Given the description of an element on the screen output the (x, y) to click on. 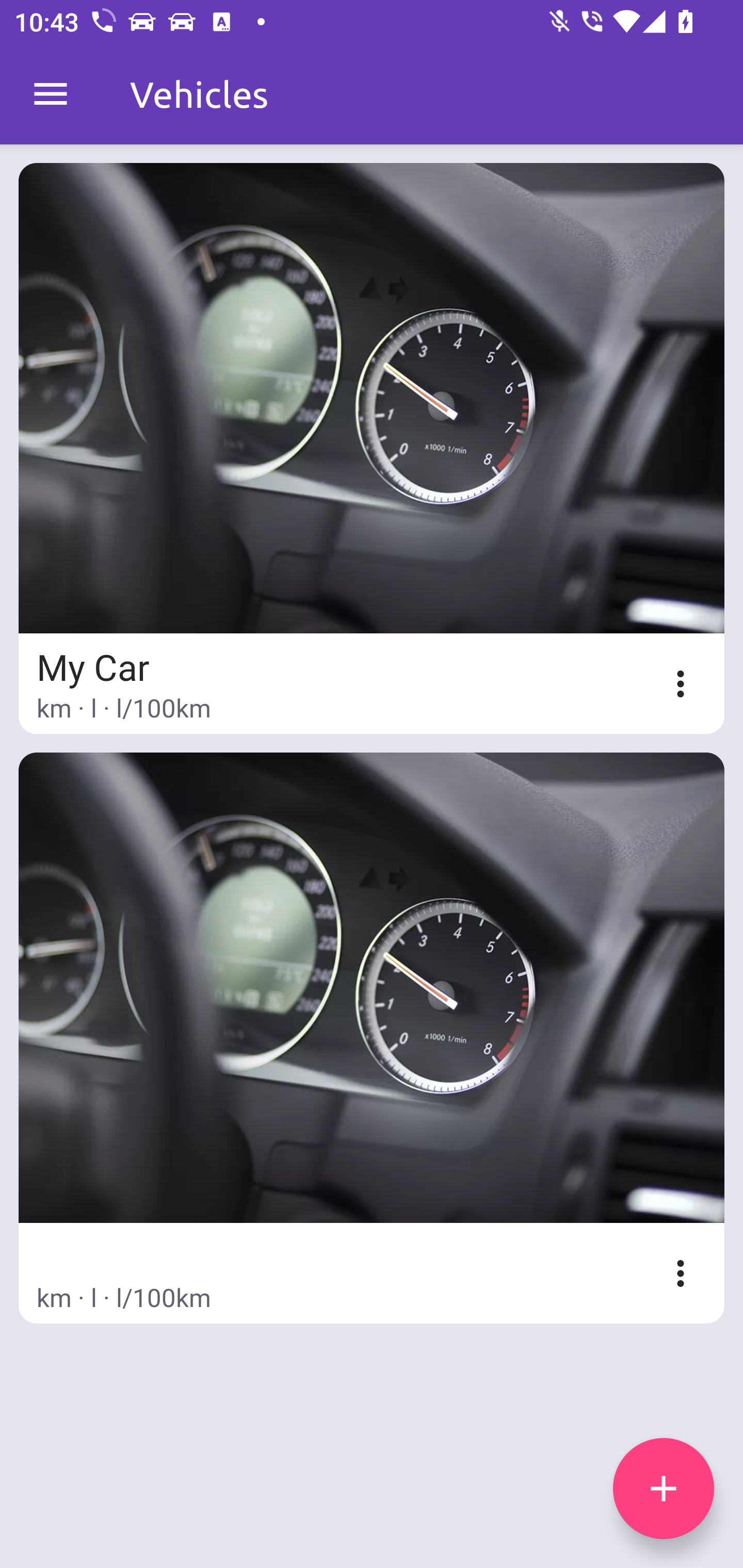
MenuDrawer (50, 93)
My Car km · l · l/100km (371, 448)
km · l · l/100km (371, 1037)
add icon (663, 1488)
